Given the description of an element on the screen output the (x, y) to click on. 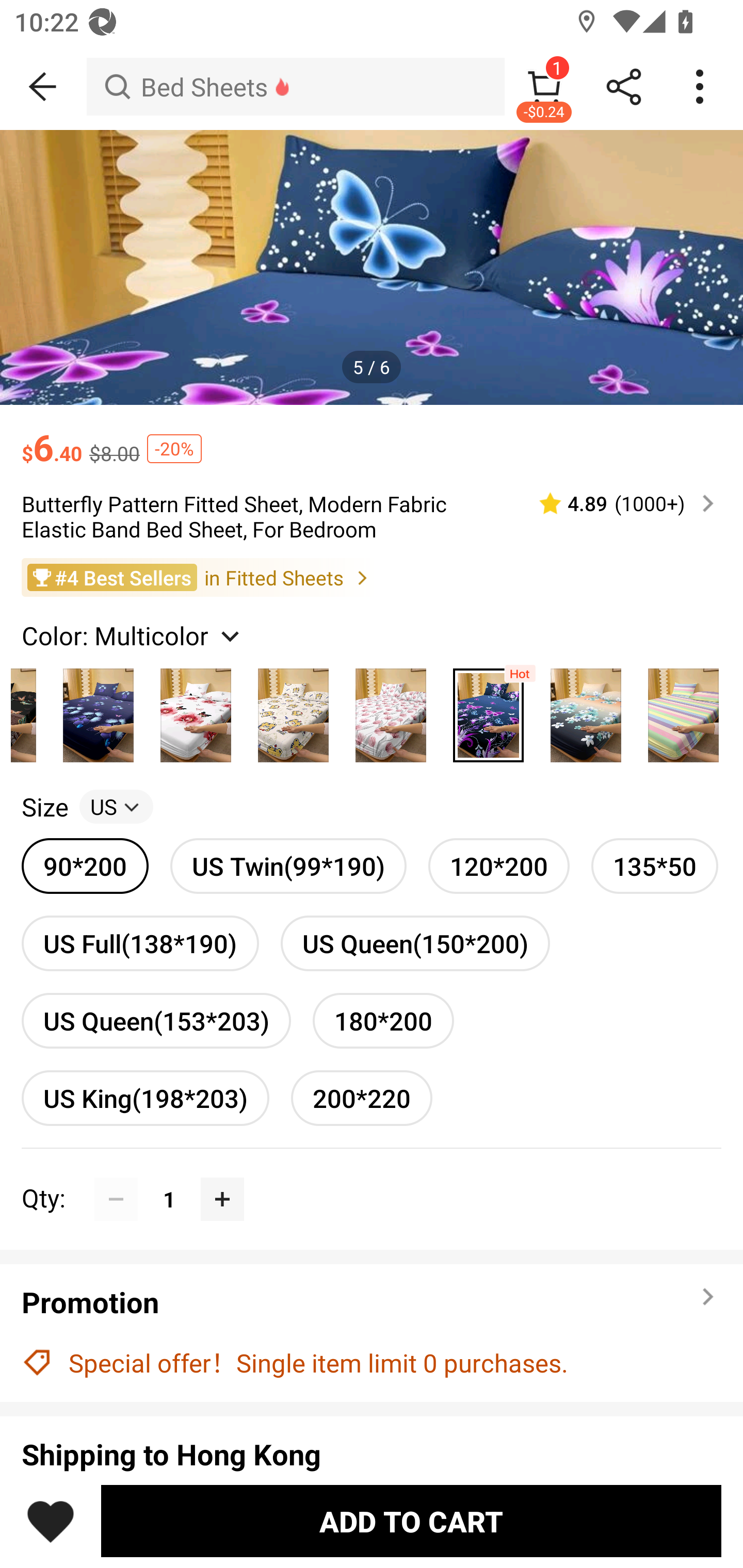
BACK (43, 86)
1 -$0.24 (543, 87)
Bed Sheets (295, 87)
PHOTOS 5 / 6 (371, 267)
5 / 6 (371, 366)
$6.40 $8.00 -20% (371, 437)
4.89 (1000‎+) (617, 503)
#4 Best Sellers in Fitted Sheets (371, 577)
Color: Multicolor (132, 634)
Multicolor (98, 710)
Multicolor (195, 710)
Multicolor (292, 710)
Multicolor (390, 710)
Multicolor (488, 710)
Multicolor (585, 710)
Multicolor (682, 710)
Size (44, 806)
US (116, 806)
90*200 90*200selected option (84, 865)
US Twin(99*190) US Twin(99*190)unselected option (288, 865)
120*200 120*200unselected option (498, 865)
135*50 135*50unselected option (654, 865)
US Full(138*190) US Full(138*190)unselected option (140, 942)
180*200 180*200unselected option (382, 1020)
US King(198*203) US King(198*203)unselected option (144, 1097)
200*220 200*220unselected option (361, 1097)
Qty: 1 (371, 1177)
Shipping to Hong Kong (371, 1453)
ADD TO CART (411, 1520)
Saved (50, 1520)
